Given the description of an element on the screen output the (x, y) to click on. 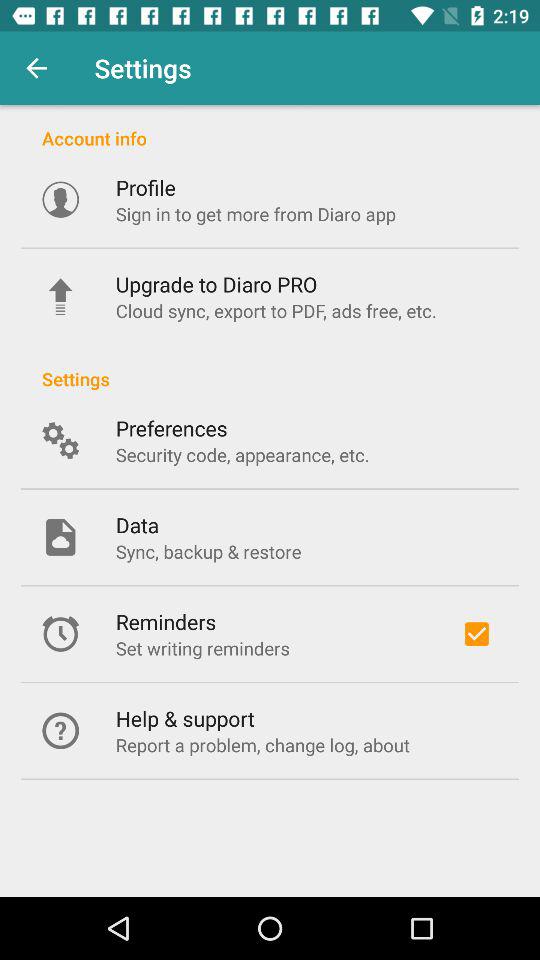
jump to the data (136, 524)
